Given the description of an element on the screen output the (x, y) to click on. 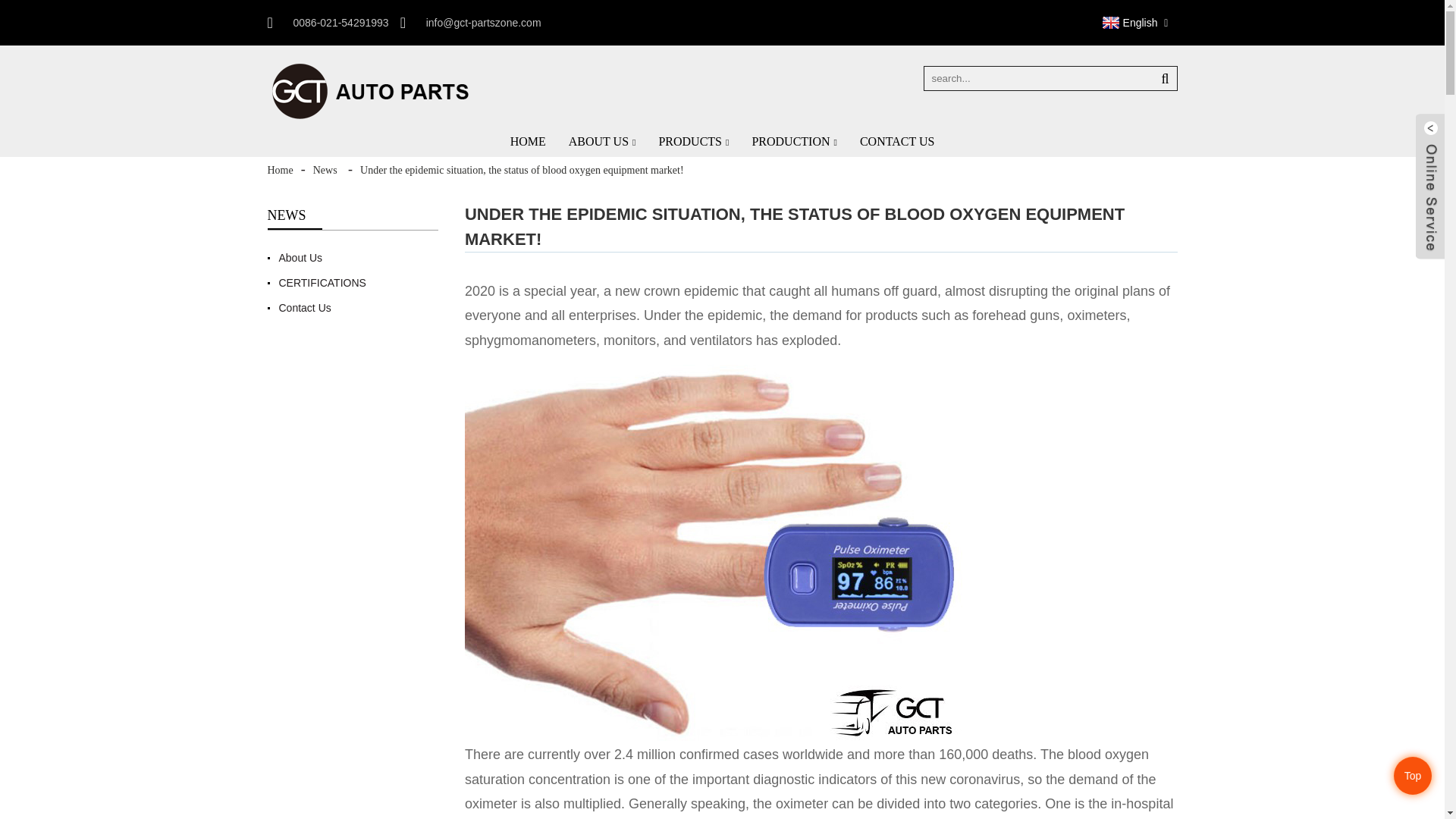
About Us (352, 258)
News (325, 170)
HOME (528, 141)
top (1413, 776)
English (1128, 22)
CONTACT US (897, 141)
CERTIFICATIONS (352, 283)
PRODUCTION (794, 141)
PRODUCTS (693, 141)
ABOUT US (602, 141)
Home (279, 170)
0086-021-54291993 (340, 22)
